Given the description of an element on the screen output the (x, y) to click on. 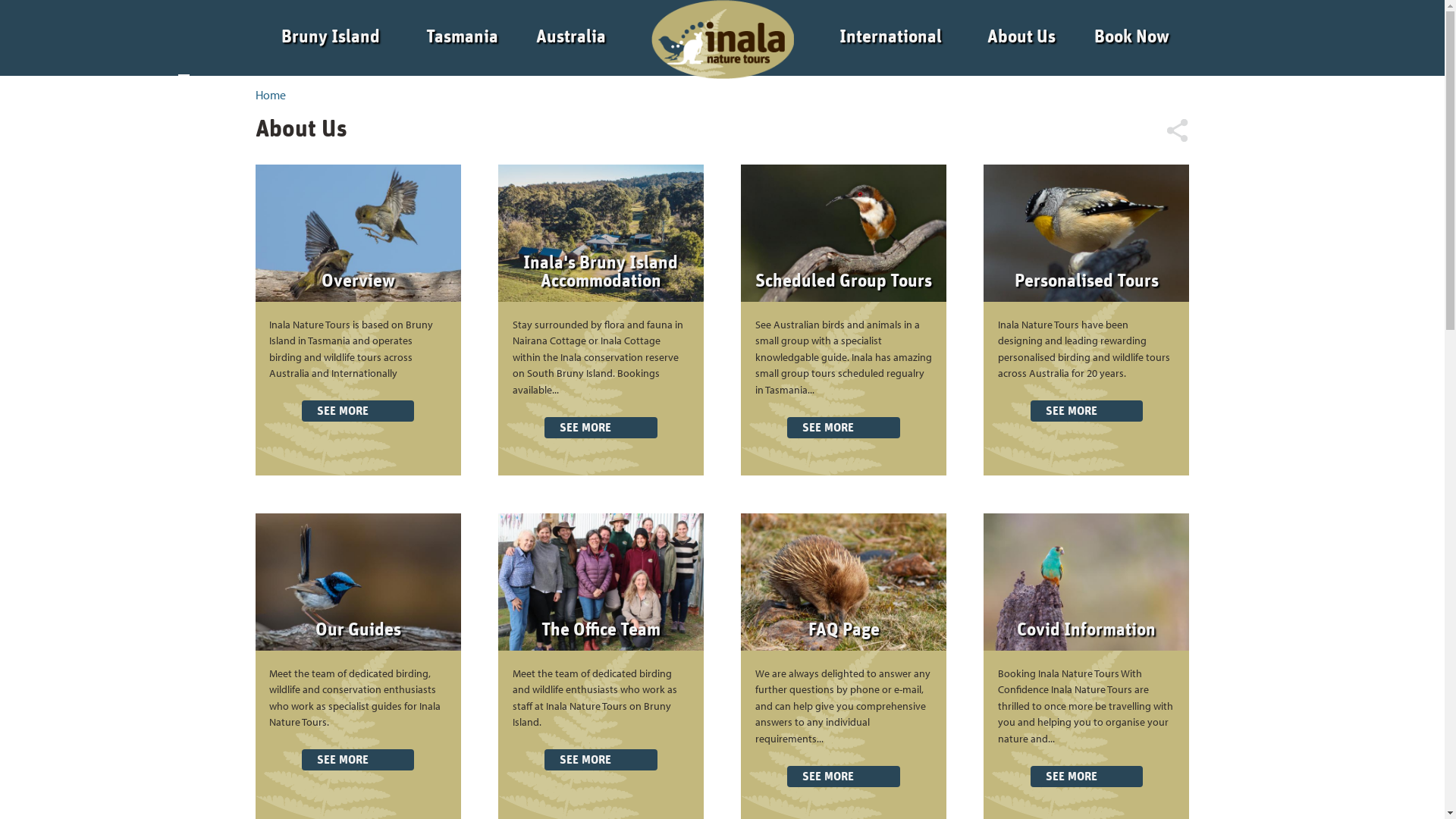
Overview Element type: text (358, 281)
International Element type: text (85, 149)
The Office Team Element type: text (600, 630)
Bruny Island Element type: text (85, 48)
Home Element type: text (269, 94)
FAQ Page Element type: text (843, 630)
SEE MORE Element type: text (357, 759)
Book Now Element type: text (1131, 37)
SEE MORE Element type: text (600, 759)
Home Element type: text (88, 15)
Bruny Island Element type: text (330, 37)
Scheduled Group Tours Element type: text (843, 281)
Our Guides Element type: text (358, 630)
SEE MORE Element type: text (357, 410)
Logo Element type: text (717, 37)
News Element type: text (88, 244)
Inala's Bruny Island Accommodation Element type: text (600, 272)
International Element type: text (890, 37)
Book Now Element type: text (88, 213)
SEE MORE Element type: text (1086, 776)
SEE MORE Element type: text (1086, 410)
About Us Element type: text (85, 182)
Personalised Tours Element type: text (1086, 281)
Tasmania Element type: text (462, 37)
Covid Information Element type: text (1085, 630)
Australia Element type: text (570, 37)
Tasmania Element type: text (85, 81)
SEE MORE Element type: text (600, 427)
SEE MORE Element type: text (843, 427)
About Us Element type: text (1021, 37)
Australia Element type: text (85, 115)
SEE MORE Element type: text (843, 776)
Contact Us Element type: text (88, 275)
